Given the description of an element on the screen output the (x, y) to click on. 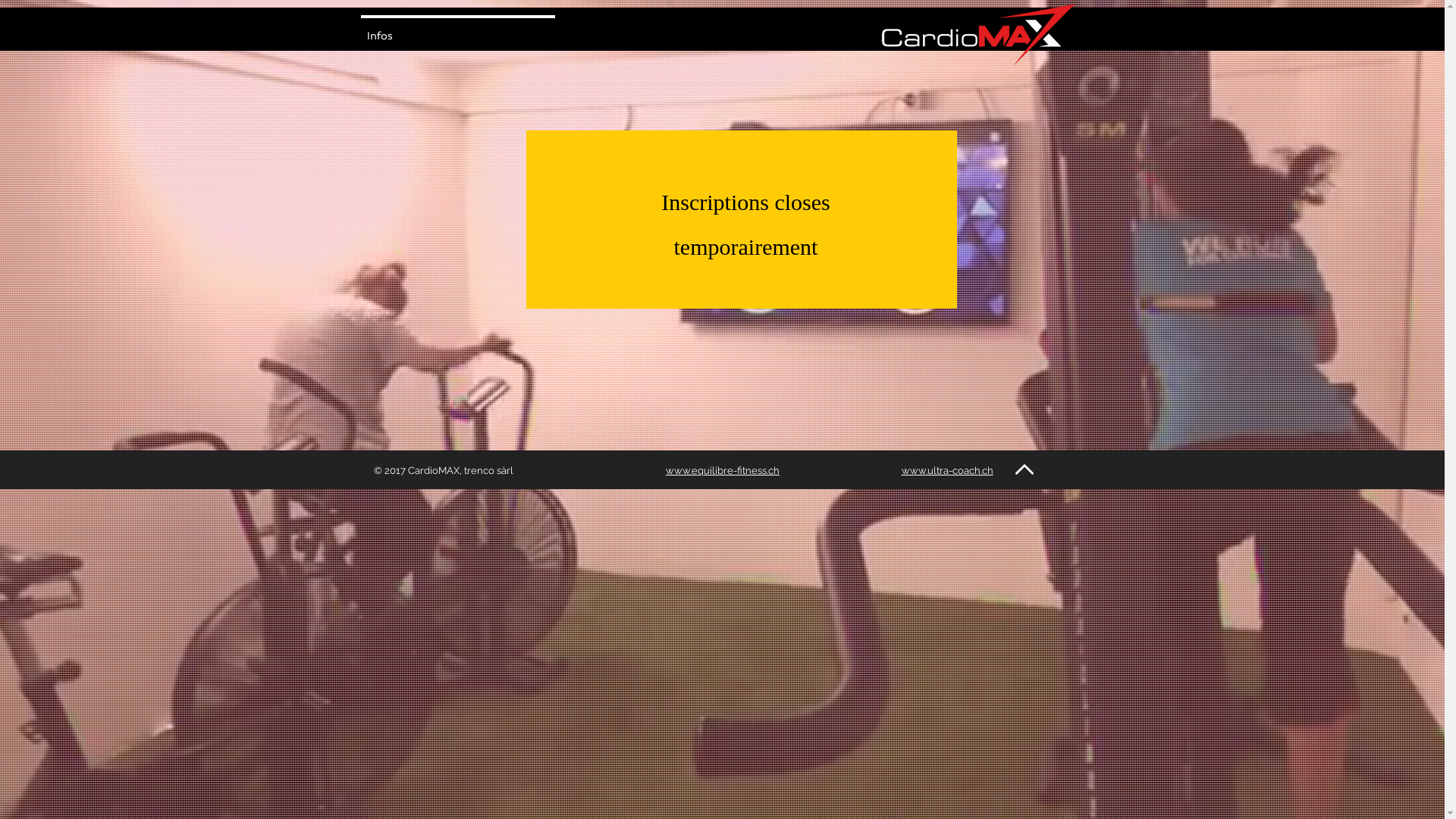
Infos Element type: text (457, 28)
www.equilibre-fitness.ch Element type: text (722, 470)
www.ultra-coach.ch Element type: text (946, 470)
